Given the description of an element on the screen output the (x, y) to click on. 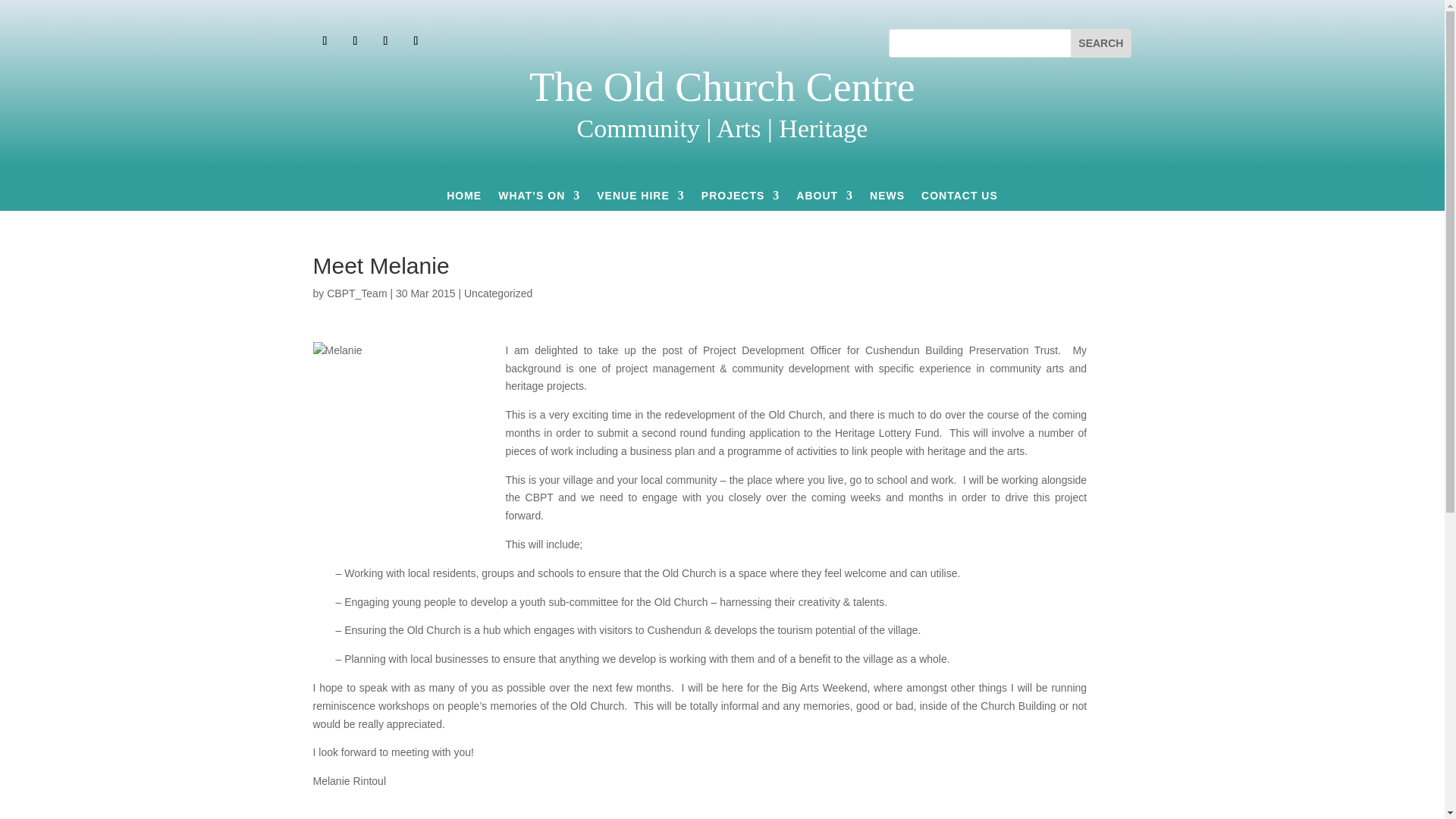
Follow on Instagram (415, 40)
Follow on Youtube (384, 40)
HOME (463, 206)
CONTACT US (959, 206)
Follow on Twitter (354, 40)
NEWS (886, 206)
Search (1100, 42)
ABOUT (824, 206)
Search (1100, 42)
Uncategorized (498, 293)
Follow on Facebook (324, 40)
VENUE HIRE (640, 206)
Search (1100, 42)
PROJECTS (739, 206)
